Given the description of an element on the screen output the (x, y) to click on. 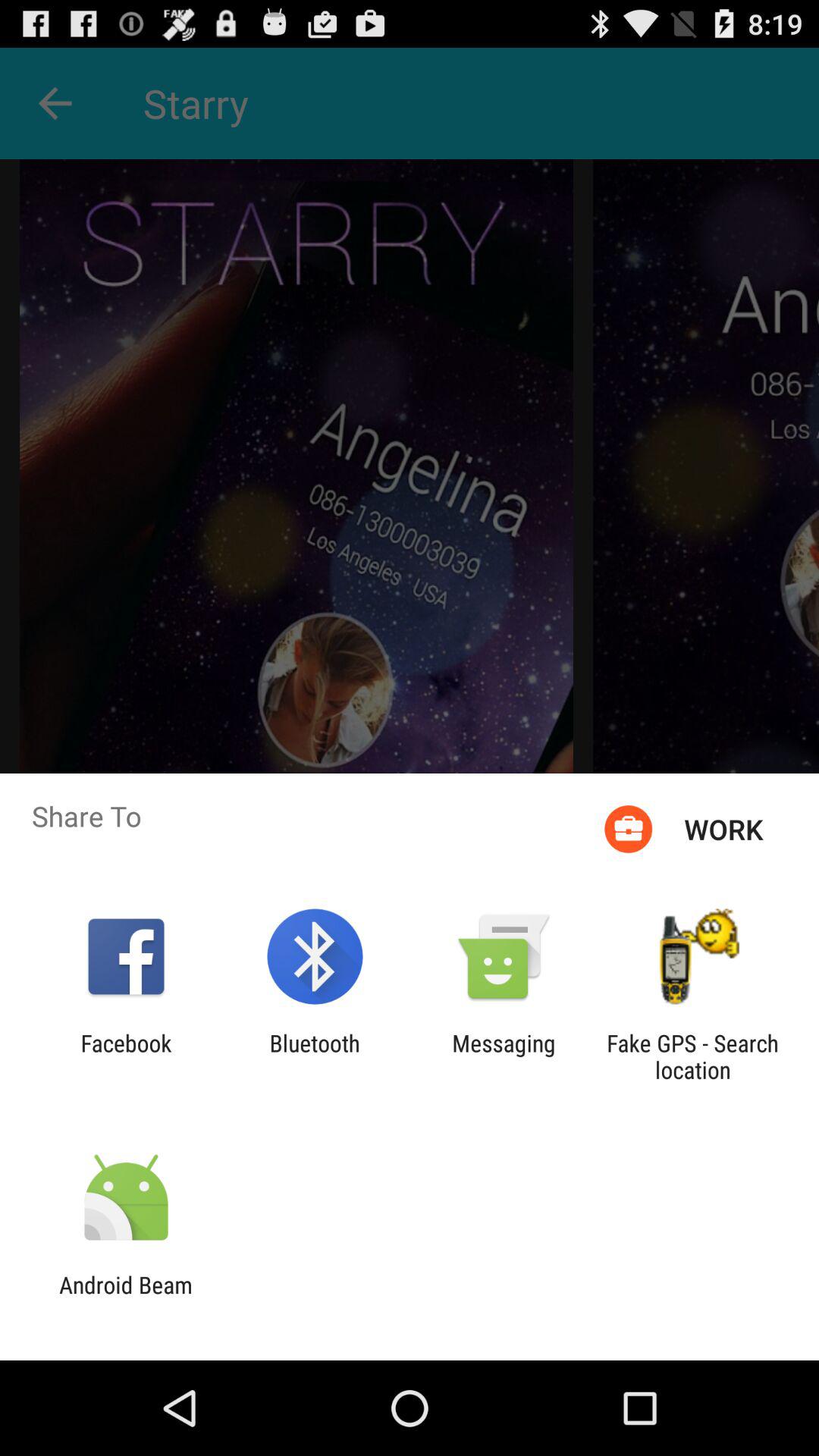
tap the facebook item (125, 1056)
